Given the description of an element on the screen output the (x, y) to click on. 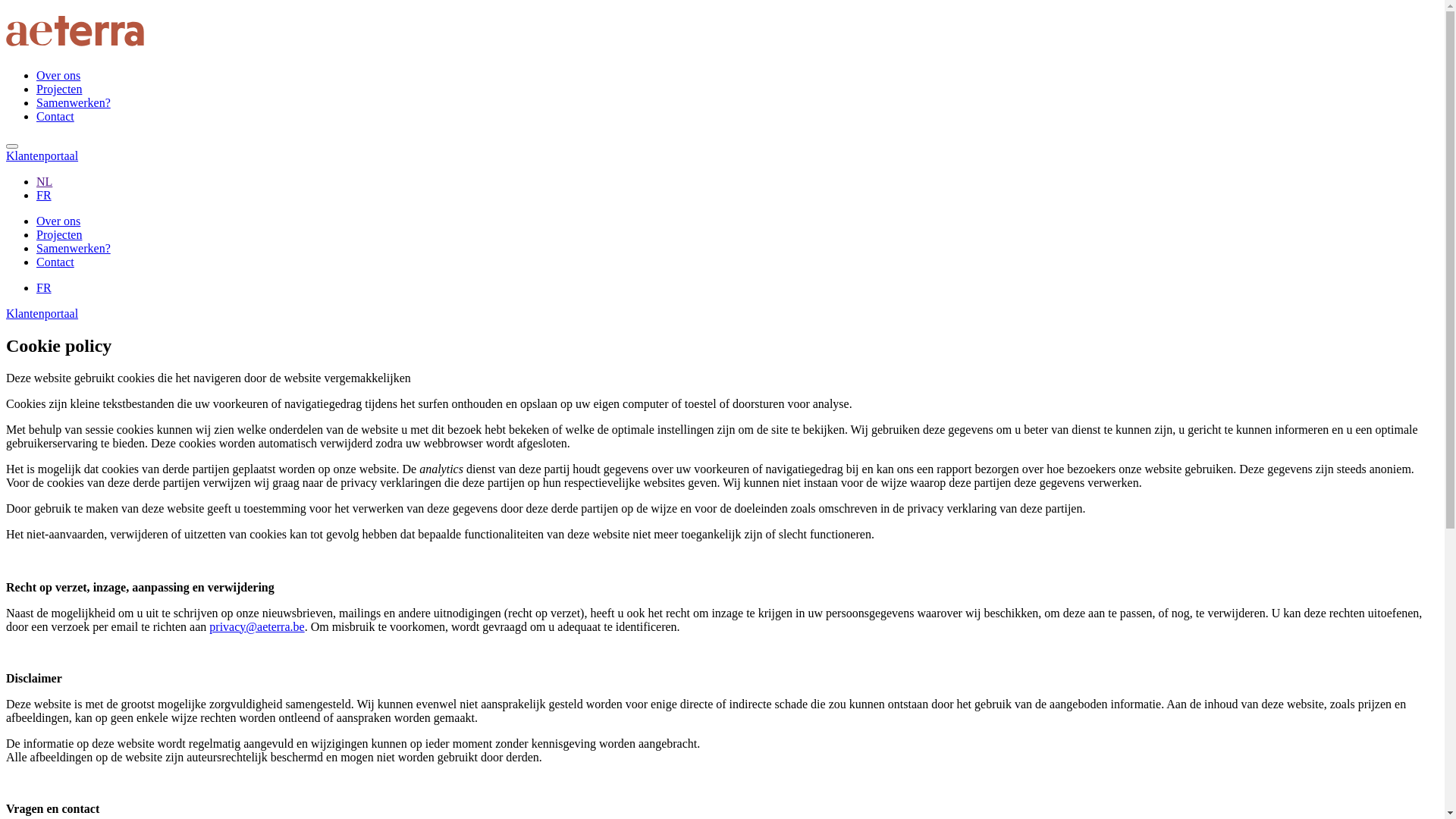
privacy@aeterra.be Element type: text (256, 626)
NL Element type: text (44, 181)
Projecten Element type: text (58, 88)
Samenwerken? Element type: text (73, 102)
Contact Element type: text (55, 115)
FR Element type: text (43, 194)
Over ons Element type: text (58, 220)
FR Element type: text (43, 287)
Contact Element type: text (55, 261)
Klantenportaal Element type: text (42, 313)
Klantenportaal Element type: text (42, 155)
Samenwerken? Element type: text (73, 247)
Projecten Element type: text (58, 234)
Over ons Element type: text (58, 75)
